Given the description of an element on the screen output the (x, y) to click on. 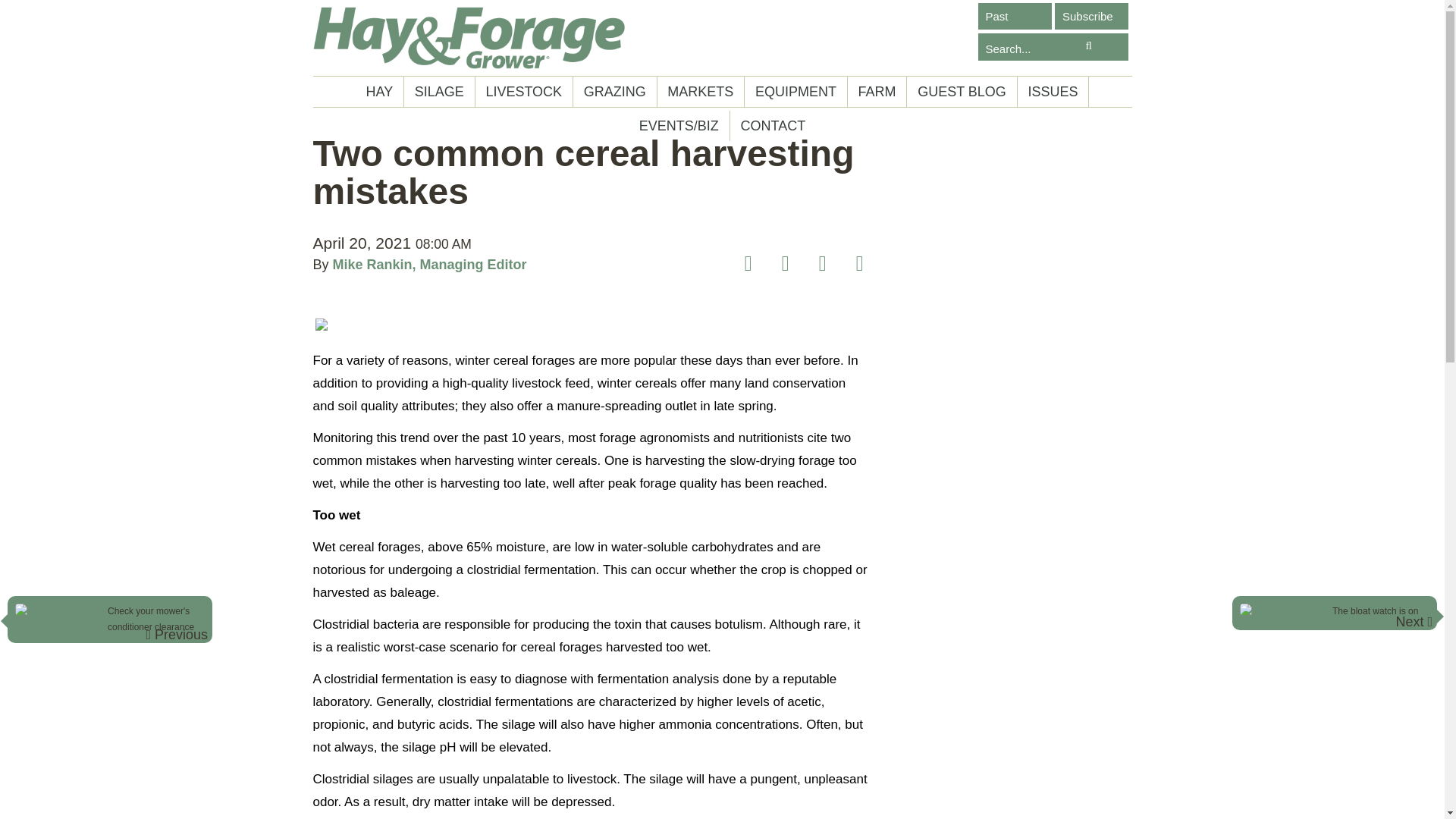
GRAZING (613, 91)
Subscribe (1091, 16)
Hay and Forage Grower Magazine (469, 38)
HAY (380, 91)
SILAGE (438, 91)
FARM (877, 91)
EQUIPMENT (795, 91)
LIVESTOCK (523, 91)
Past Issues (1014, 16)
GUEST BLOG (962, 91)
MARKETS (700, 91)
